Given the description of an element on the screen output the (x, y) to click on. 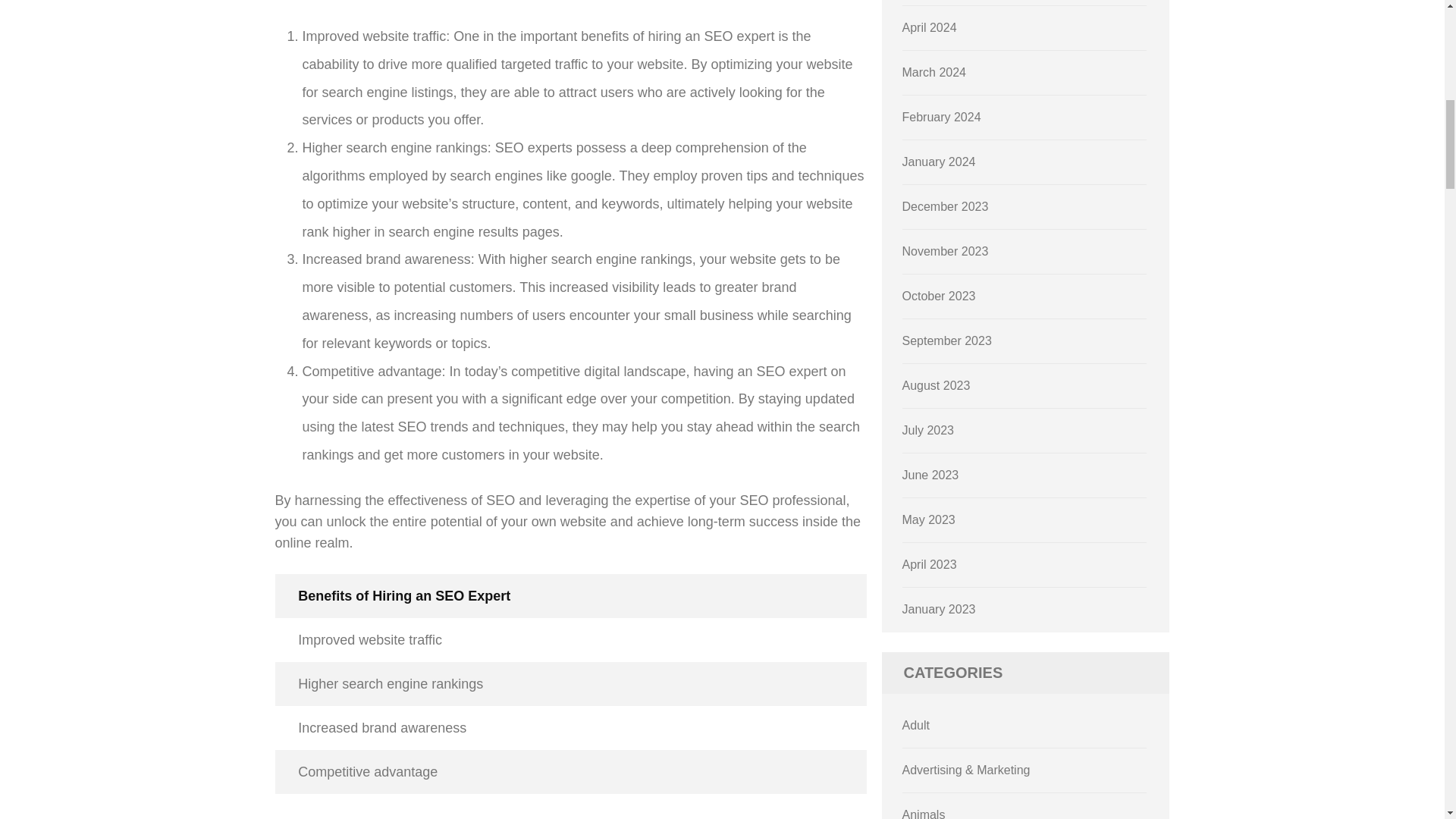
December 2023 (945, 205)
August 2023 (936, 385)
February 2024 (941, 116)
September 2023 (946, 340)
January 2023 (938, 608)
November 2023 (945, 250)
May 2023 (928, 519)
January 2024 (938, 161)
April 2024 (929, 27)
July 2023 (928, 430)
March 2024 (934, 72)
June 2023 (930, 474)
October 2023 (938, 295)
April 2023 (929, 563)
